Given the description of an element on the screen output the (x, y) to click on. 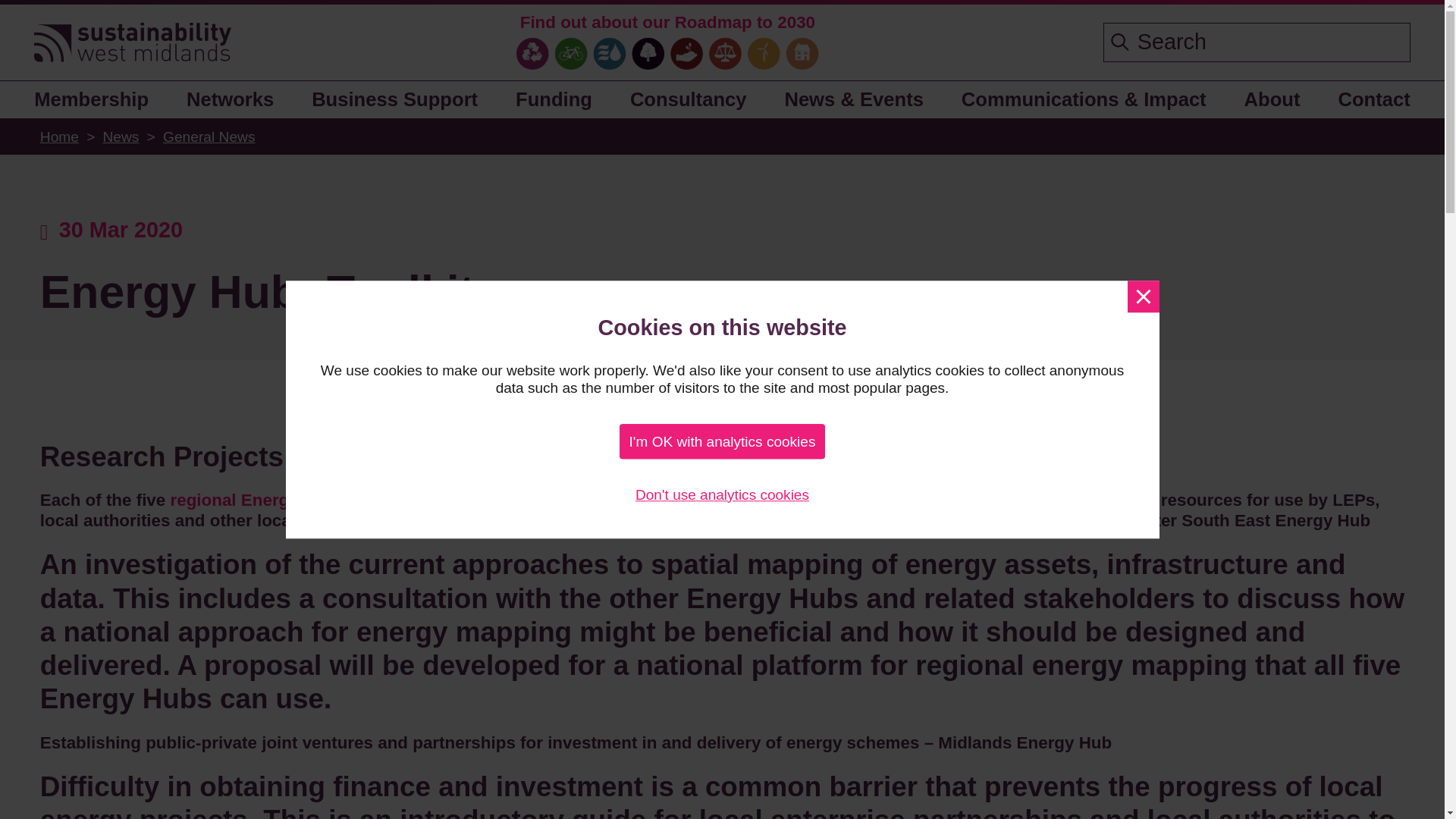
Membership (96, 98)
Don't use analytics cookies (721, 494)
Consultancy (687, 98)
About (1272, 98)
Funding (554, 98)
Go to the Sustainability West Midlands home page (132, 43)
Business Support (394, 98)
Dismiss message (1142, 296)
I'm OK with analytics cookies (722, 441)
Networks (230, 98)
